Given the description of an element on the screen output the (x, y) to click on. 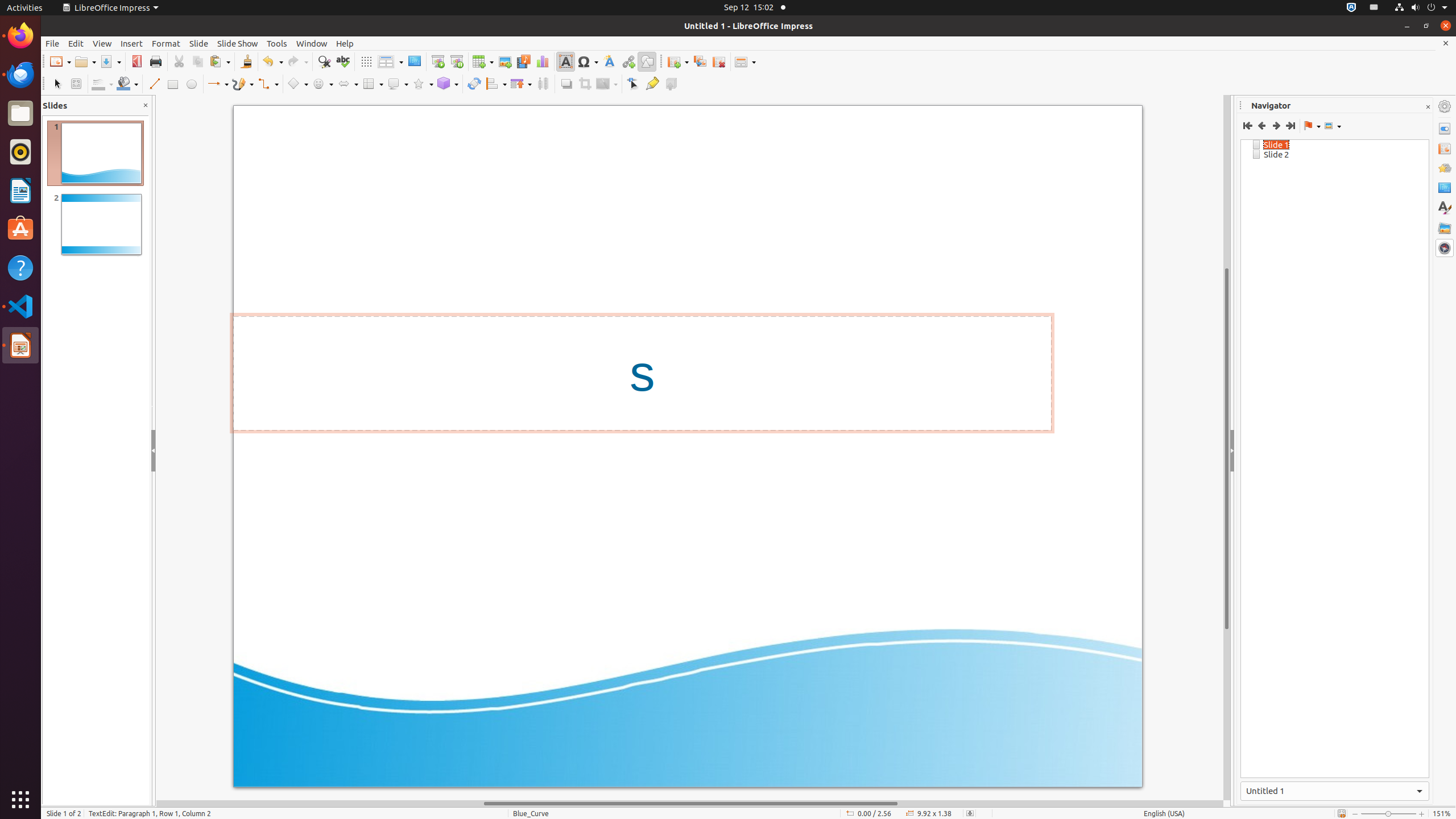
Active Window Element type: combo-box (1334, 790)
Draw Functions Element type: toggle-button (646, 61)
Symbol Element type: push-button (587, 61)
Slide Element type: menu (198, 43)
Master Slide Element type: push-button (413, 61)
